Given the description of an element on the screen output the (x, y) to click on. 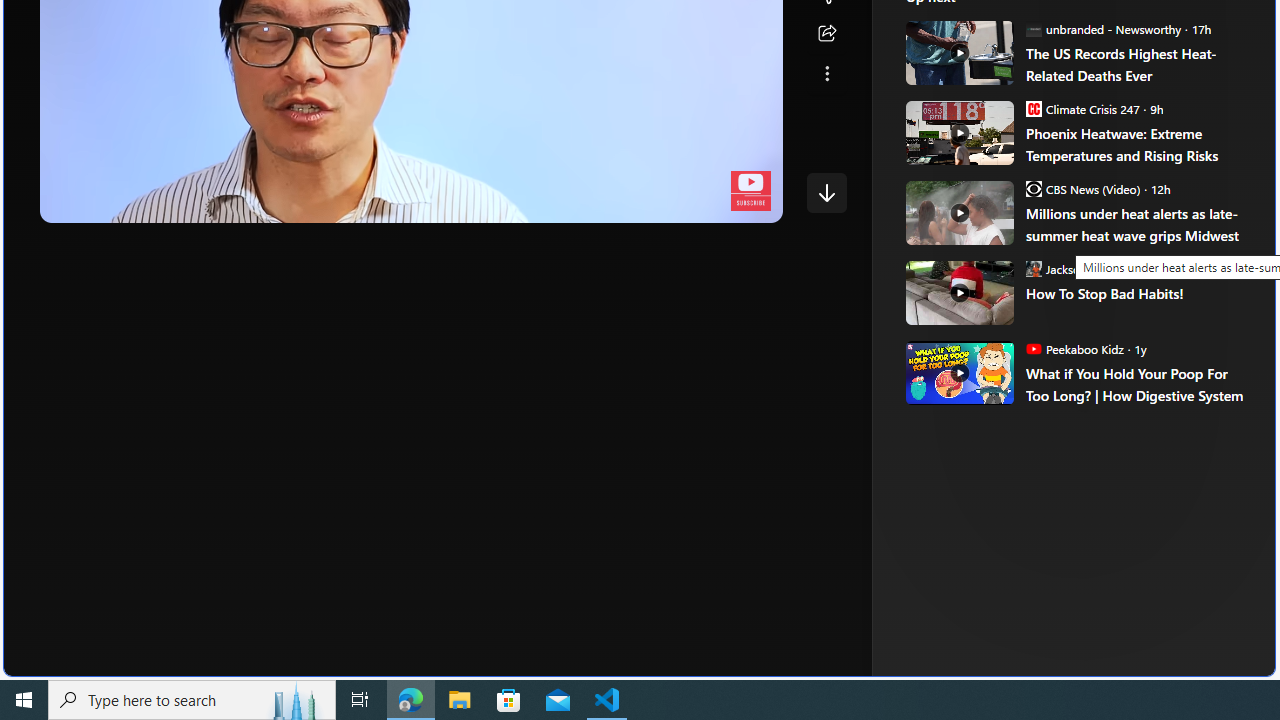
Class: ytp-subtitles-button-icon (603, 202)
